Given the description of an element on the screen output the (x, y) to click on. 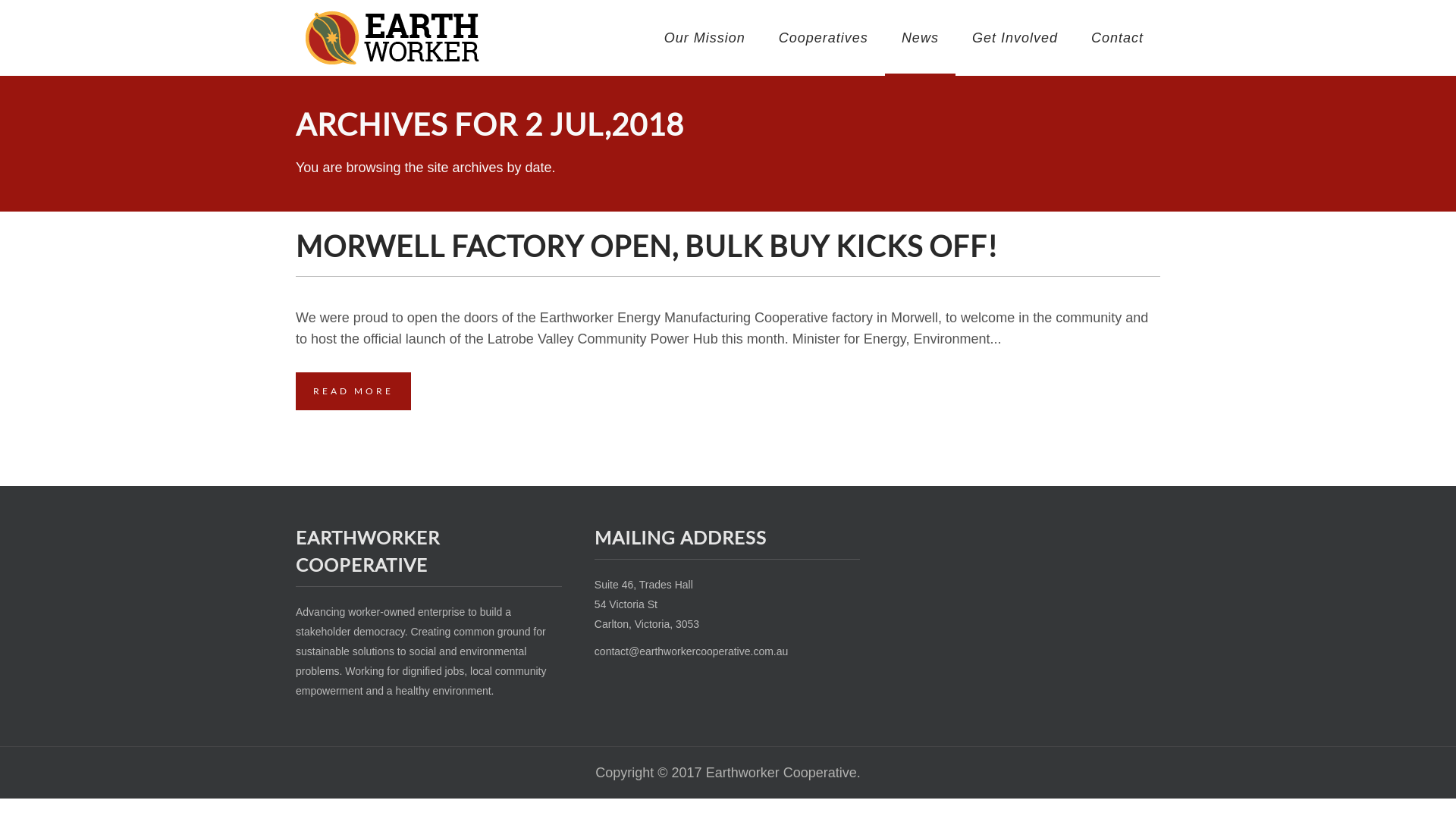
Our Mission Element type: text (704, 37)
Get Involved Element type: text (1014, 37)
Contact Element type: text (1117, 37)
READ MORE Element type: text (353, 391)
Earthworker Cooperative Element type: hover (393, 37)
Cooperatives Element type: text (823, 37)
News Element type: text (919, 37)
MORWELL FACTORY OPEN, BULK BUY KICKS OFF! Element type: text (646, 245)
